Given the description of an element on the screen output the (x, y) to click on. 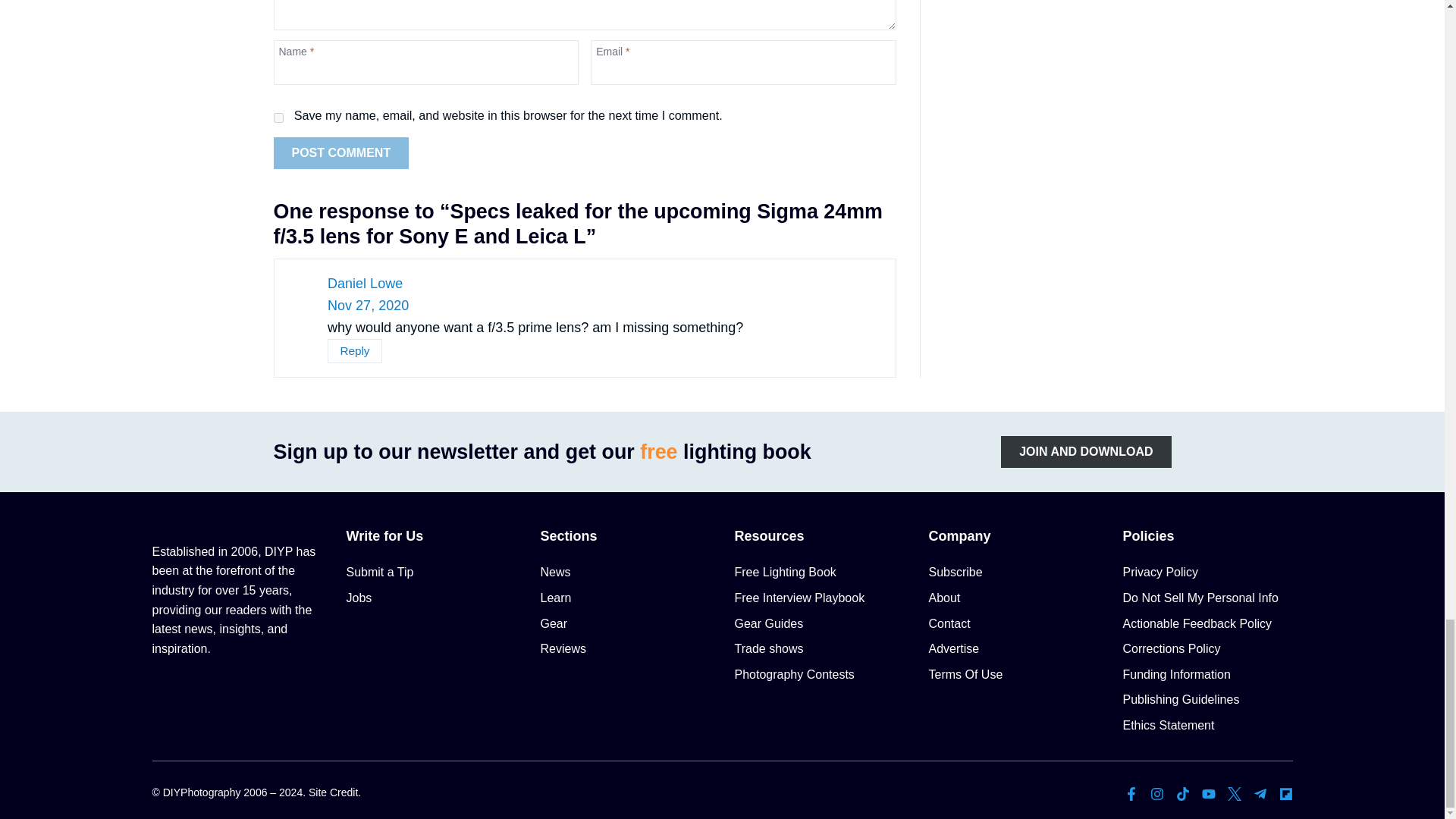
Post Comment (341, 152)
yes (277, 117)
